Given the description of an element on the screen output the (x, y) to click on. 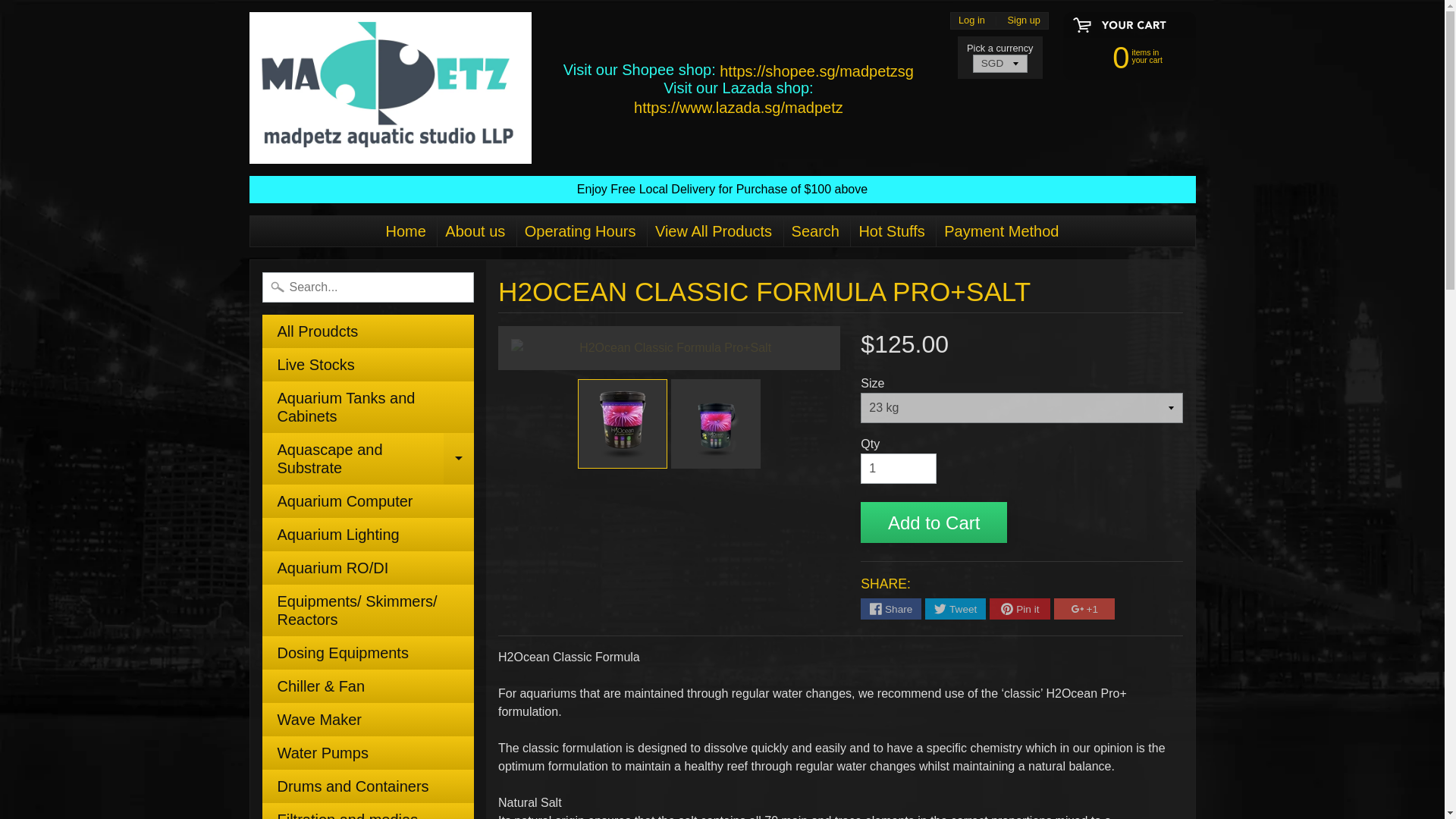
About us (475, 231)
Payment Method (1000, 231)
Aquarium Tanks and Cabinets (368, 407)
Drums and Containers (368, 786)
Madpetz Aquatic Studio llp (389, 87)
All Proudcts (368, 331)
Dosing Equipments (368, 652)
1 (368, 458)
Live Stocks (898, 468)
Hot Stuffs (1122, 56)
Filtration and medias (368, 364)
Log in (890, 231)
View All Products (368, 811)
